Given the description of an element on the screen output the (x, y) to click on. 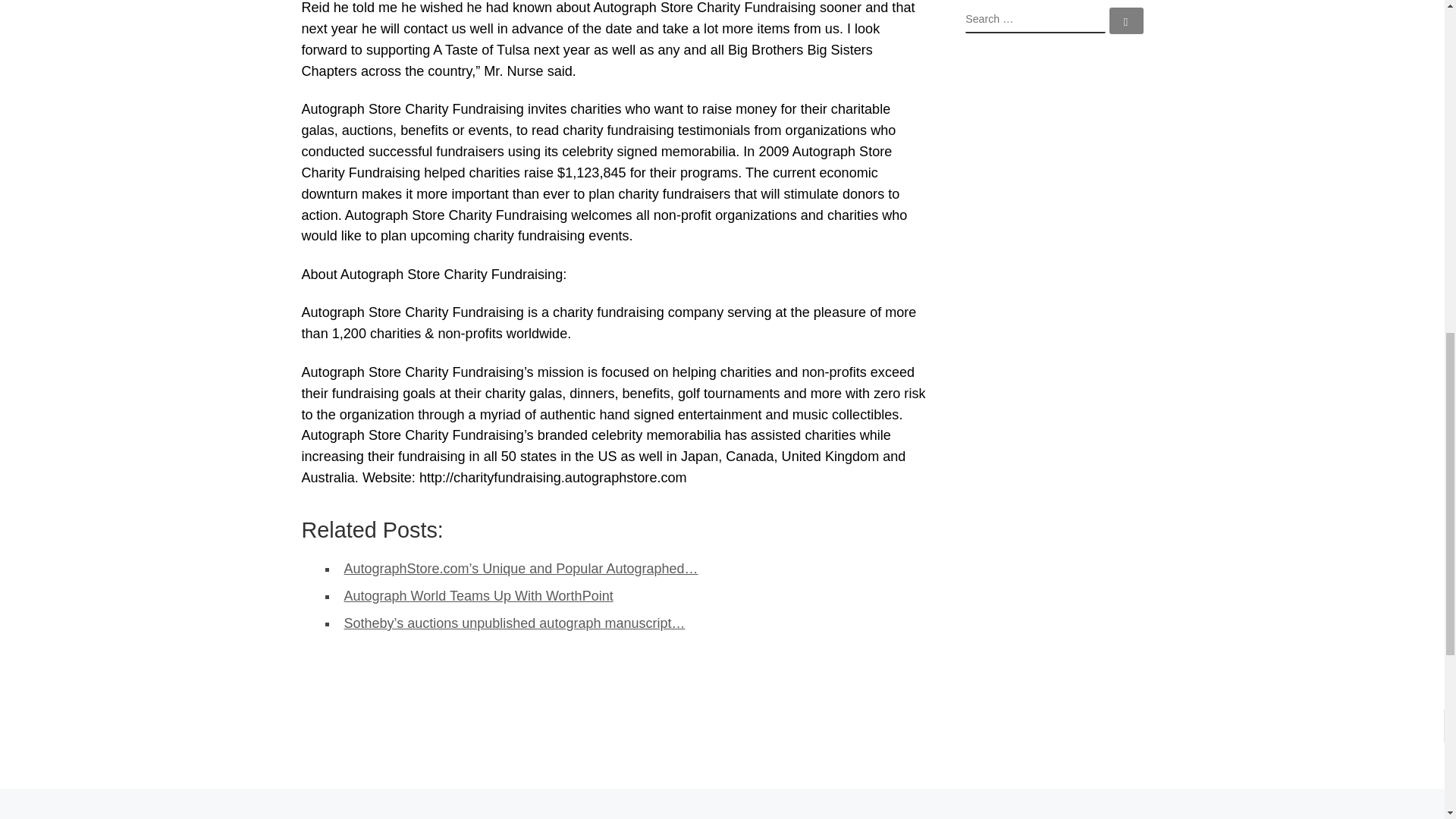
ANTIQUE AND VINTAGE APPLIANCE REPAIR SERVICE (176, 811)
Back to post list (722, 811)
Autograph World Teams Up With WorthPoint (477, 595)
BACK TO POST LIST (722, 811)
